Given the description of an element on the screen output the (x, y) to click on. 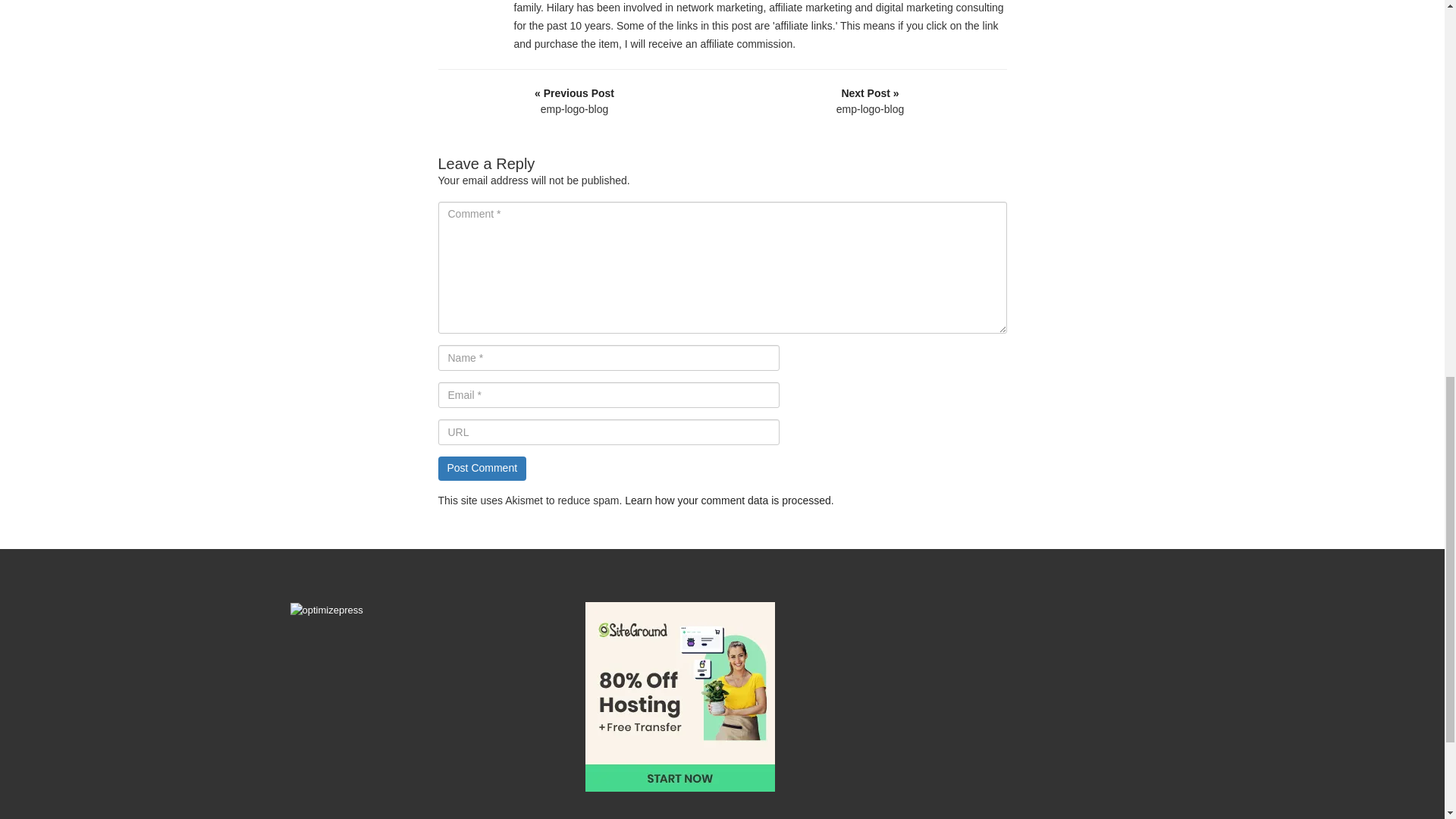
Post Comment (482, 468)
emp-logo-blog (869, 101)
Learn how your comment data is processed (727, 500)
Post Comment (482, 468)
emp-logo-blog (574, 101)
